Given the description of an element on the screen output the (x, y) to click on. 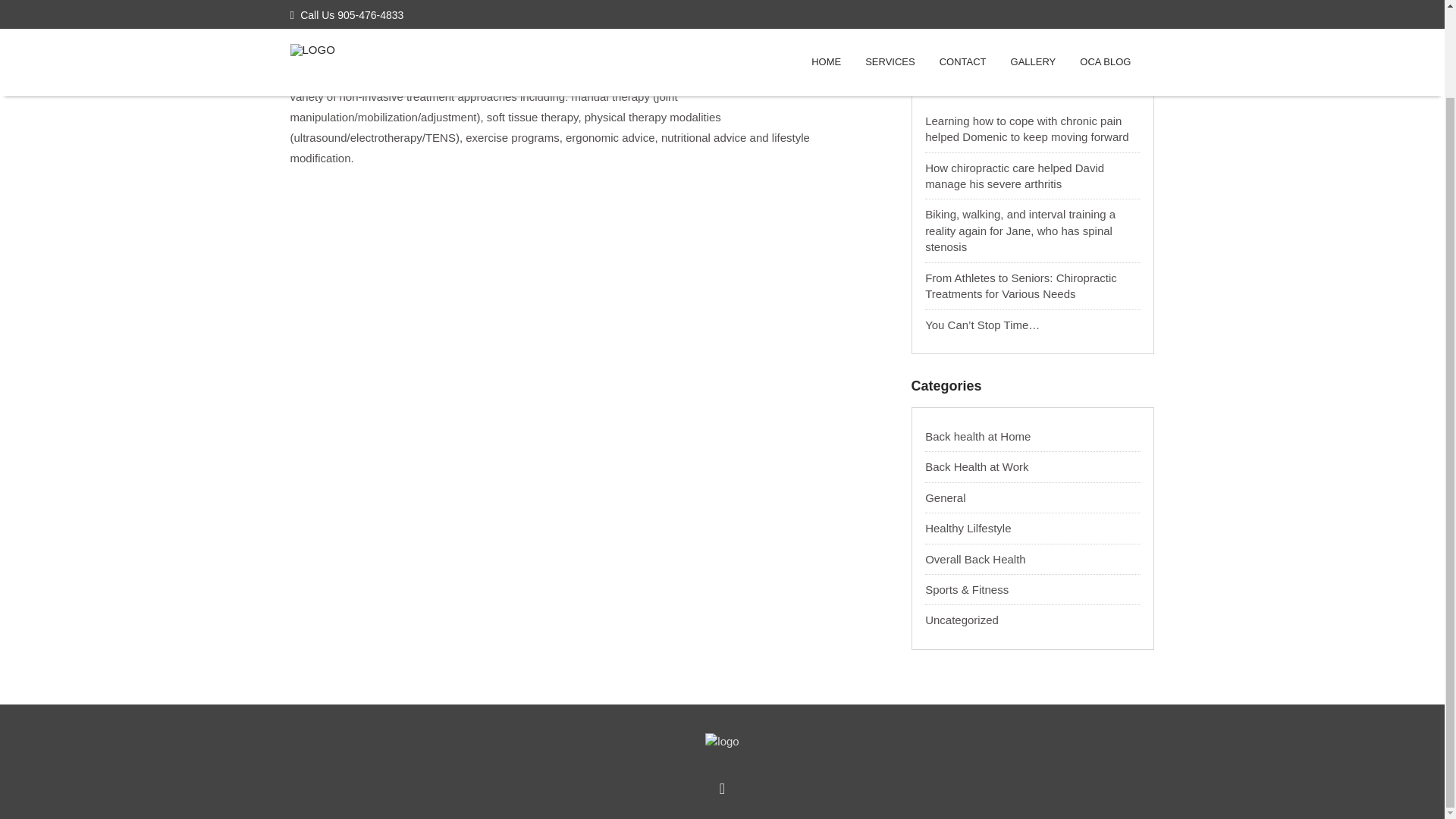
Back Health at Work (975, 466)
Back health at Home (977, 436)
Uncategorized (961, 619)
Healthy Lilfestyle (967, 527)
Overall Back Health (975, 558)
Search (1003, 12)
General (944, 497)
